Given the description of an element on the screen output the (x, y) to click on. 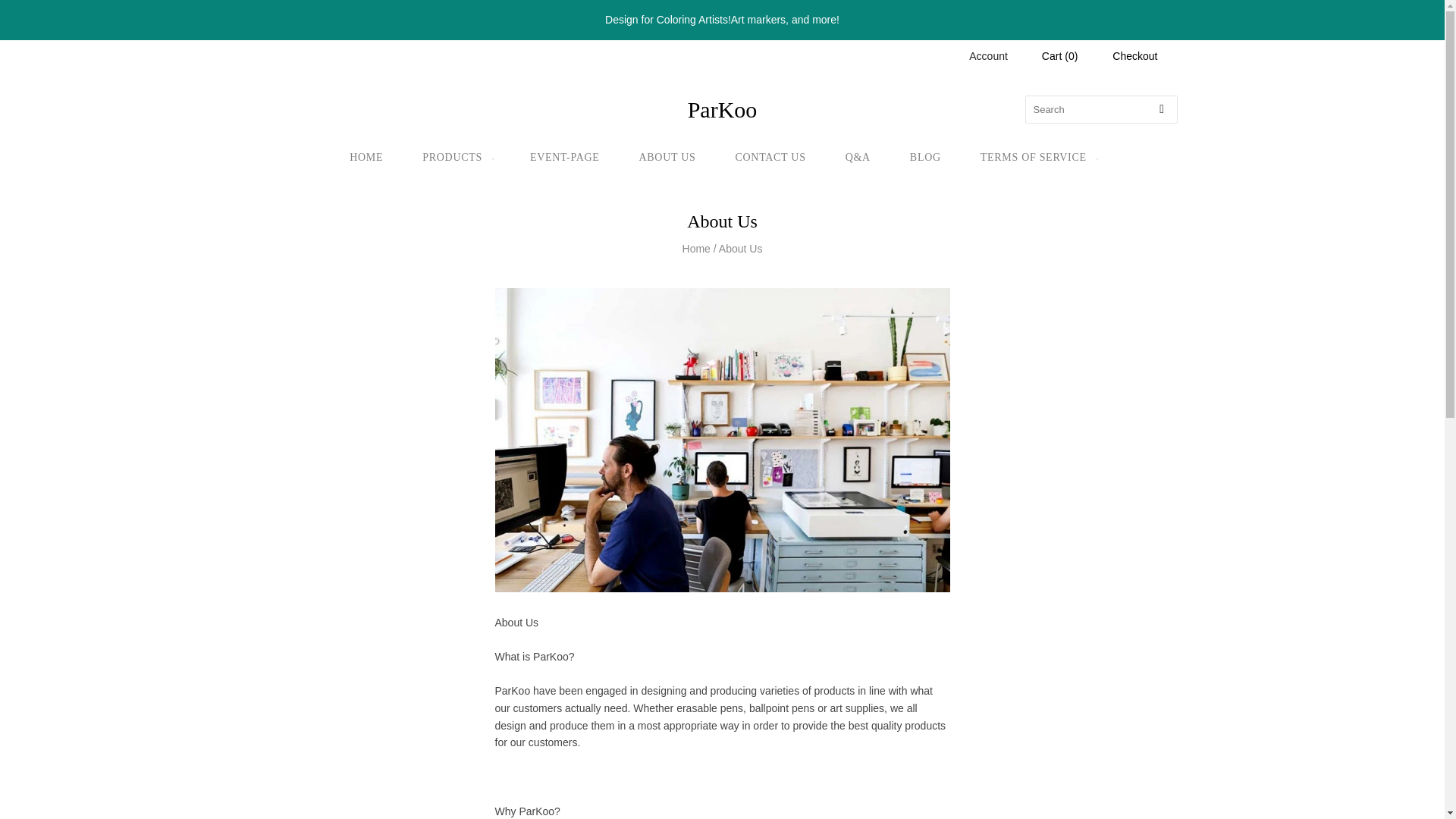
PRODUCTS (457, 157)
ABOUT US (668, 157)
CONTACT US (769, 157)
BLOG (924, 157)
TERMS OF SERVICE (1037, 157)
EVENT-PAGE (565, 157)
ParKoo (722, 109)
HOME (366, 157)
Account (988, 55)
Checkout (1134, 56)
